Given the description of an element on the screen output the (x, y) to click on. 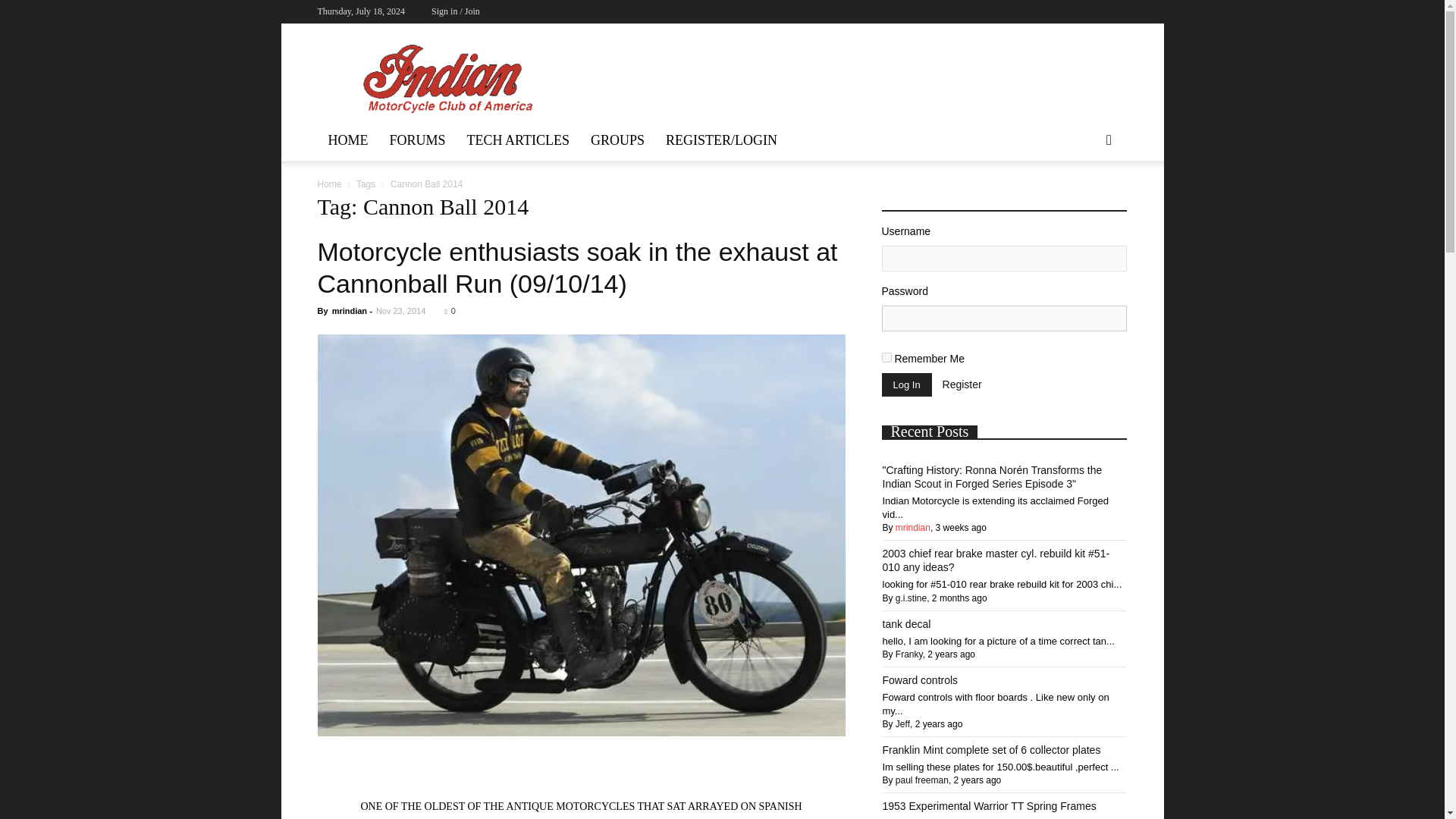
forever (885, 357)
Log In (905, 384)
HOME (347, 139)
Register (961, 384)
0 (449, 310)
Franky (909, 654)
Search (1085, 202)
Home (328, 184)
Jeff (902, 724)
paul freeman (922, 779)
Log In (905, 384)
g.i.stine (910, 597)
TECH ARTICLES (518, 139)
GROUPS (617, 139)
